Given the description of an element on the screen output the (x, y) to click on. 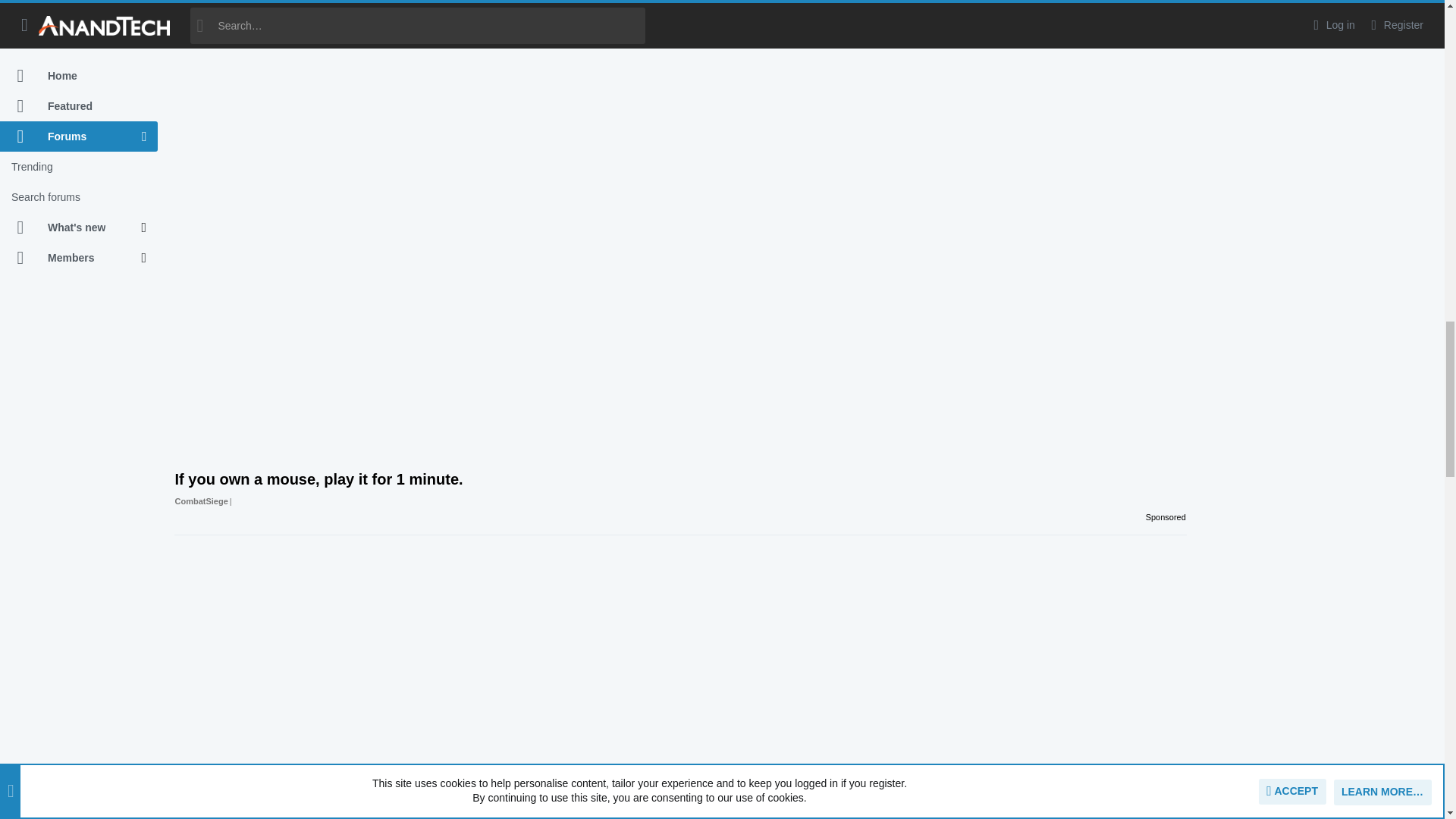
If you own a mouse, play it for 1 minute. (680, 490)
